Given the description of an element on the screen output the (x, y) to click on. 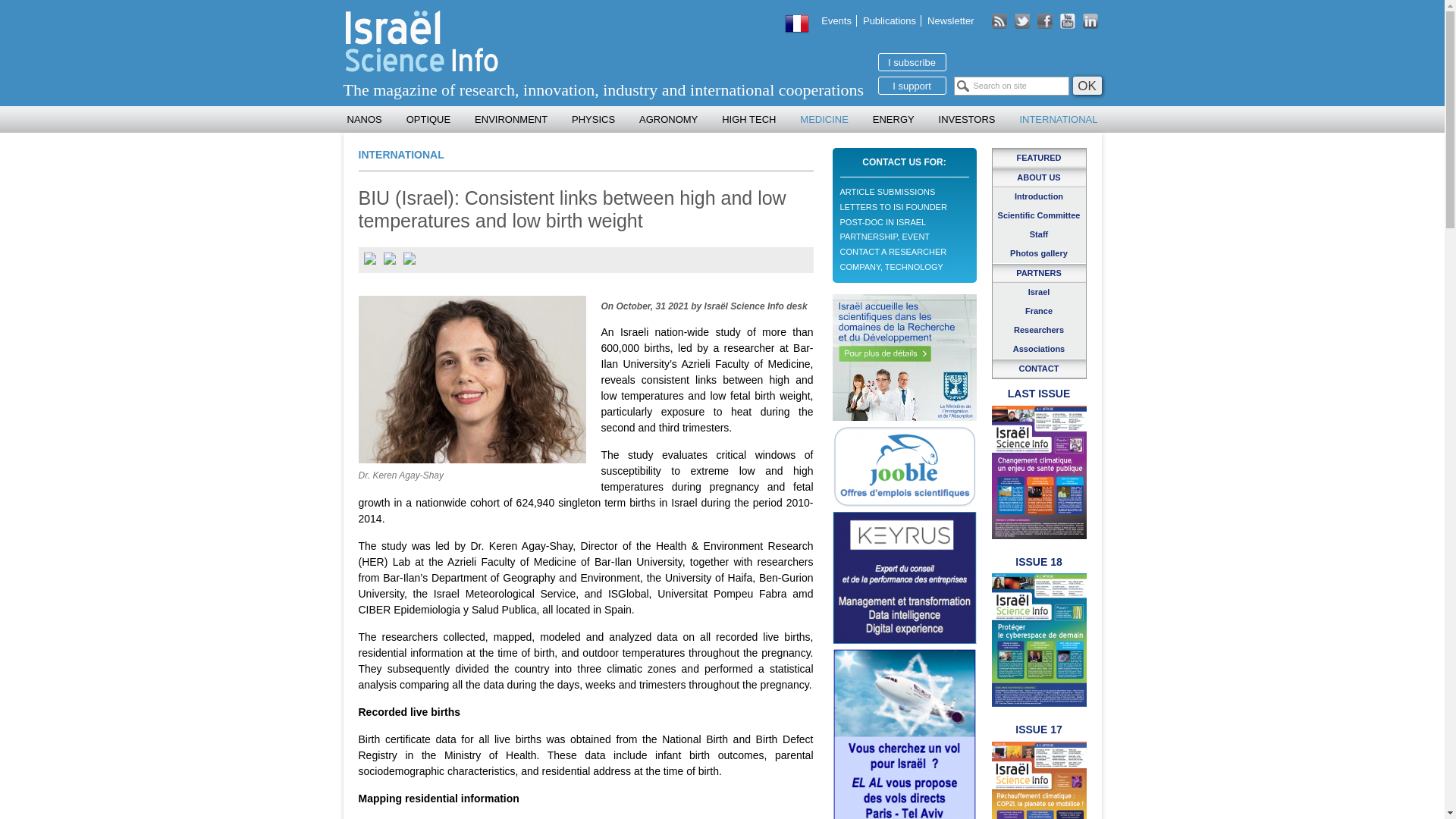
I support (911, 85)
COMPANY, TECHNOLOGY (891, 266)
Twitter (1023, 21)
NANOS (364, 119)
ENERGY (892, 119)
Linkedin (1092, 21)
CONTACT A RESEARCHER (893, 251)
Search on site (1010, 85)
HIGH TECH (748, 119)
I subscribe (911, 62)
